Given the description of an element on the screen output the (x, y) to click on. 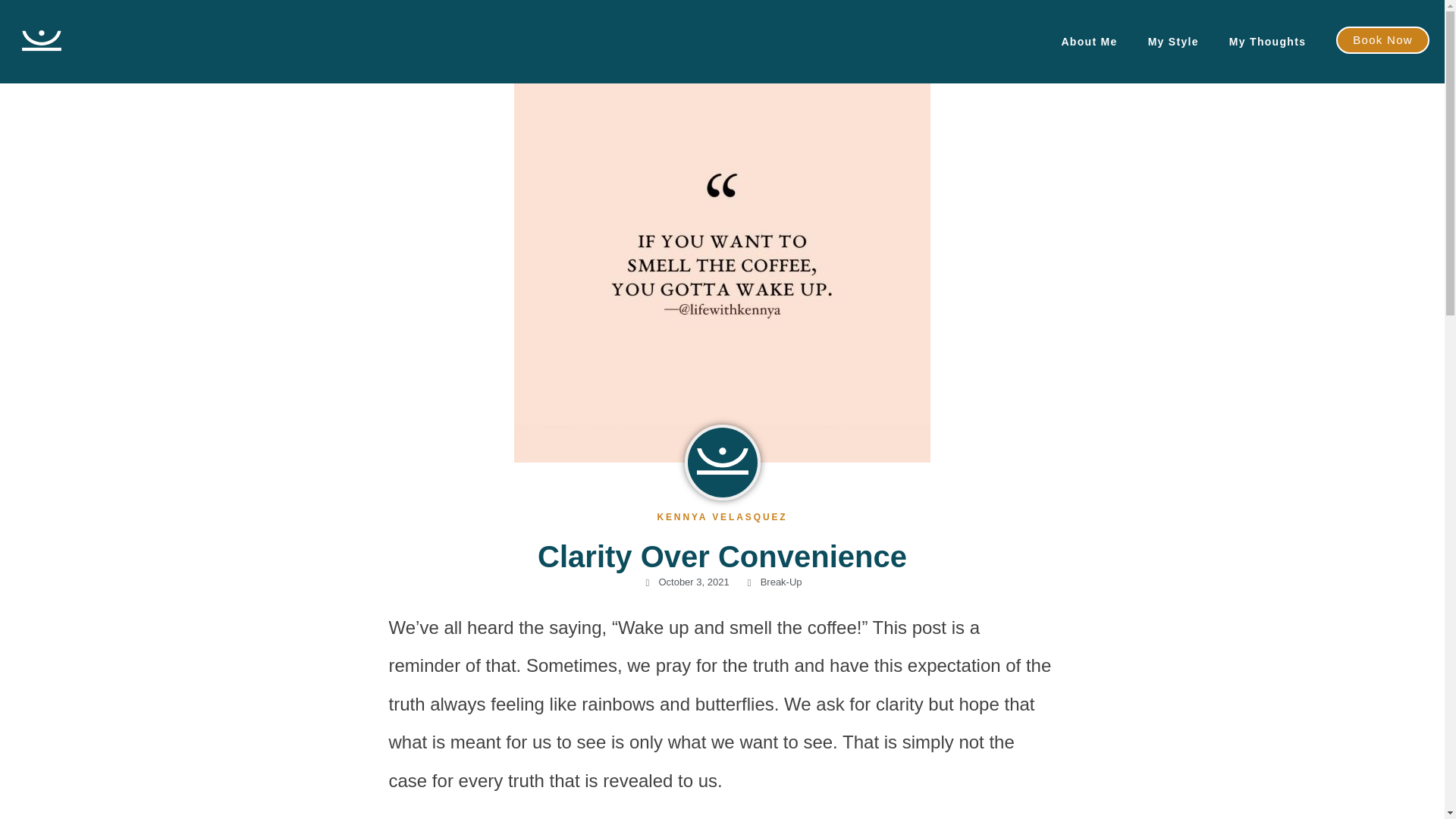
My Style (1173, 41)
Book Now (1382, 39)
About Me (1088, 41)
Break-Up (781, 582)
October 3, 2021 (685, 582)
My Thoughts (1267, 41)
